Given the description of an element on the screen output the (x, y) to click on. 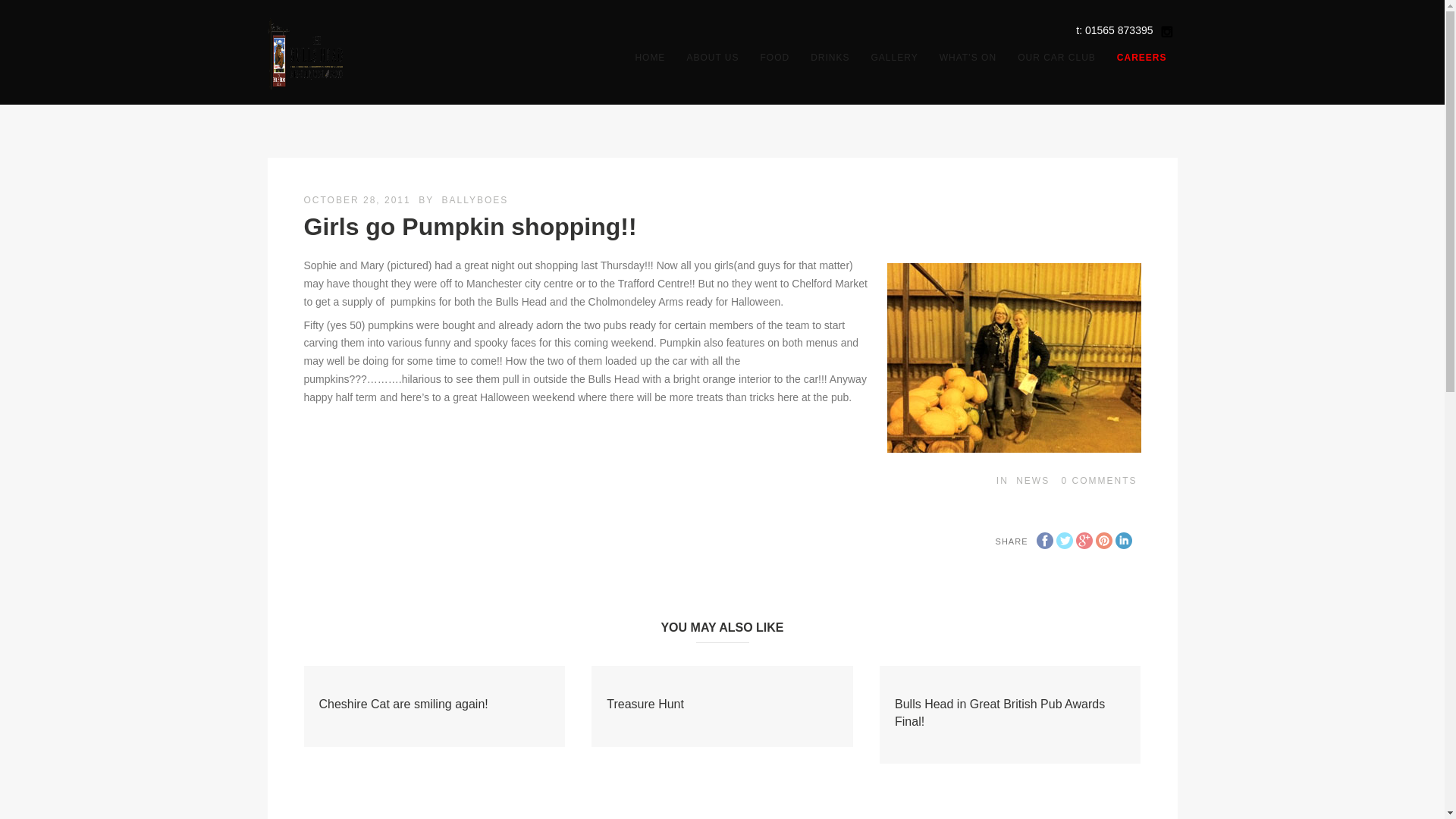
ABOUT US (712, 57)
Twitter (1063, 540)
Facebook (1043, 540)
FOOD (774, 57)
Instagram (1166, 31)
GALLERY (894, 57)
HOME (649, 57)
DRINKS (829, 57)
LinkedIn (1123, 540)
Pinterest (1103, 540)
